Given the description of an element on the screen output the (x, y) to click on. 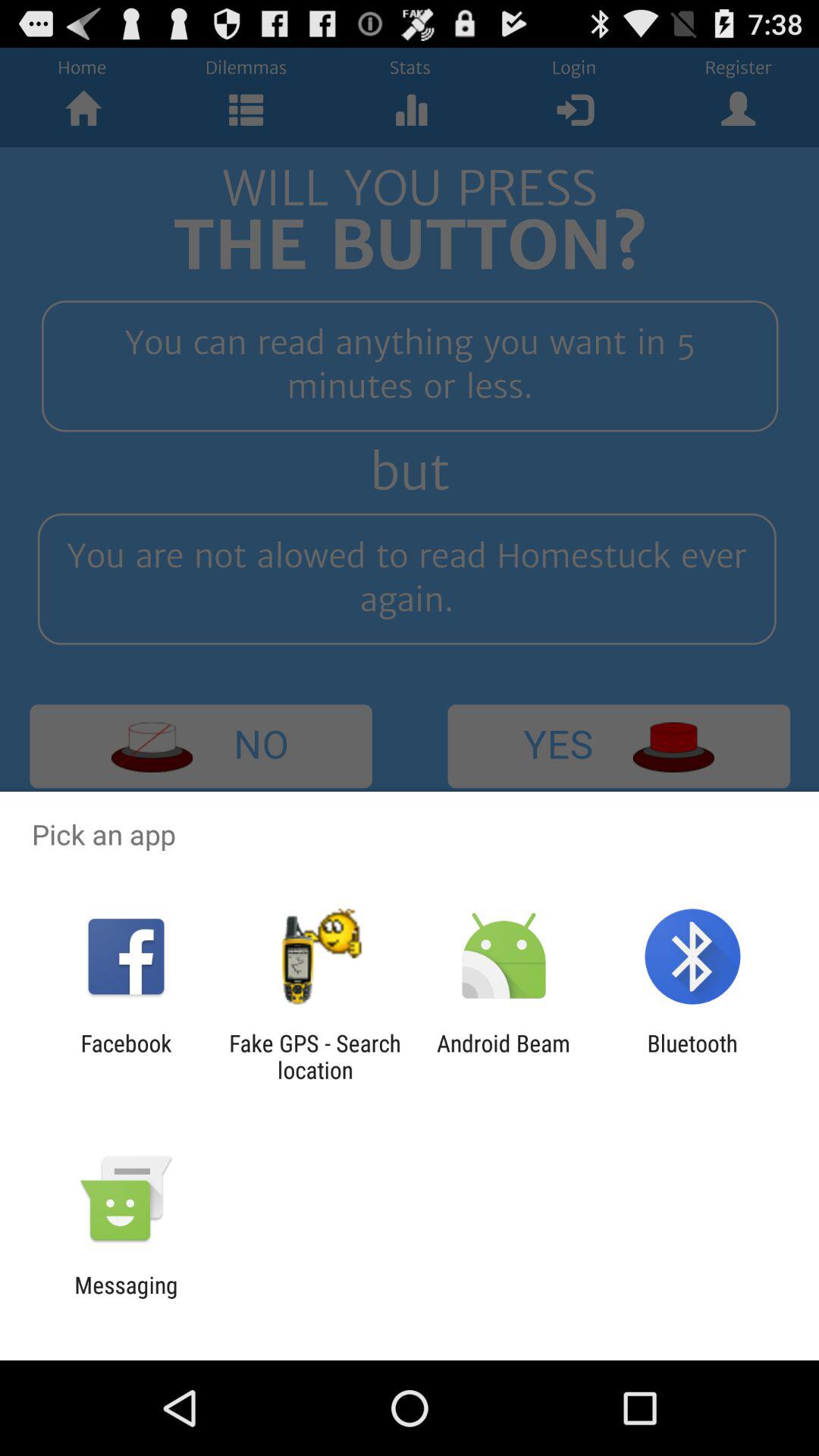
press icon next to fake gps search icon (503, 1056)
